Given the description of an element on the screen output the (x, y) to click on. 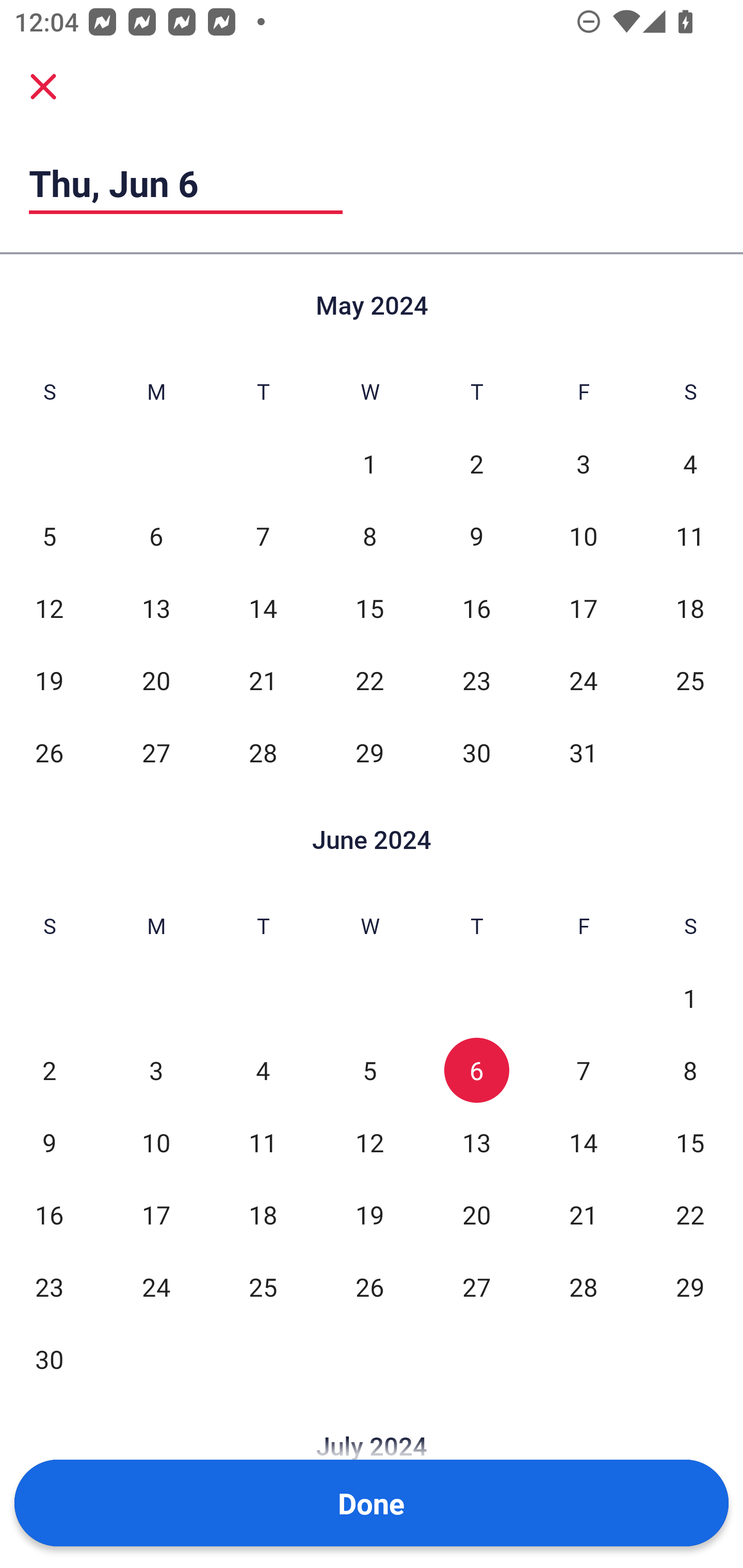
Cancel (43, 86)
Thu, Jun 6 (185, 182)
1 Wed, May 1, Not Selected (369, 464)
2 Thu, May 2, Not Selected (476, 464)
3 Fri, May 3, Not Selected (583, 464)
4 Sat, May 4, Not Selected (690, 464)
5 Sun, May 5, Not Selected (49, 536)
6 Mon, May 6, Not Selected (156, 536)
7 Tue, May 7, Not Selected (263, 536)
8 Wed, May 8, Not Selected (369, 536)
9 Thu, May 9, Not Selected (476, 536)
10 Fri, May 10, Not Selected (583, 536)
11 Sat, May 11, Not Selected (690, 536)
12 Sun, May 12, Not Selected (49, 608)
13 Mon, May 13, Not Selected (156, 608)
14 Tue, May 14, Not Selected (263, 608)
15 Wed, May 15, Not Selected (369, 608)
16 Thu, May 16, Not Selected (476, 608)
17 Fri, May 17, Not Selected (583, 608)
18 Sat, May 18, Not Selected (690, 608)
19 Sun, May 19, Not Selected (49, 680)
20 Mon, May 20, Not Selected (156, 680)
21 Tue, May 21, Not Selected (263, 680)
22 Wed, May 22, Not Selected (369, 680)
23 Thu, May 23, Not Selected (476, 680)
24 Fri, May 24, Not Selected (583, 680)
25 Sat, May 25, Not Selected (690, 680)
26 Sun, May 26, Not Selected (49, 752)
27 Mon, May 27, Not Selected (156, 752)
28 Tue, May 28, Not Selected (263, 752)
29 Wed, May 29, Not Selected (369, 752)
30 Thu, May 30, Not Selected (476, 752)
31 Fri, May 31, Not Selected (583, 752)
1 Sat, Jun 1, Not Selected (690, 997)
2 Sun, Jun 2, Not Selected (49, 1070)
3 Mon, Jun 3, Not Selected (156, 1070)
4 Tue, Jun 4, Not Selected (263, 1070)
5 Wed, Jun 5, Not Selected (369, 1070)
6 Thu, Jun 6, Selected (476, 1070)
7 Fri, Jun 7, Not Selected (583, 1070)
8 Sat, Jun 8, Not Selected (690, 1070)
9 Sun, Jun 9, Not Selected (49, 1143)
10 Mon, Jun 10, Not Selected (156, 1143)
11 Tue, Jun 11, Not Selected (263, 1143)
12 Wed, Jun 12, Not Selected (369, 1143)
13 Thu, Jun 13, Not Selected (476, 1143)
14 Fri, Jun 14, Not Selected (583, 1143)
15 Sat, Jun 15, Not Selected (690, 1143)
16 Sun, Jun 16, Not Selected (49, 1215)
17 Mon, Jun 17, Not Selected (156, 1215)
